Given the description of an element on the screen output the (x, y) to click on. 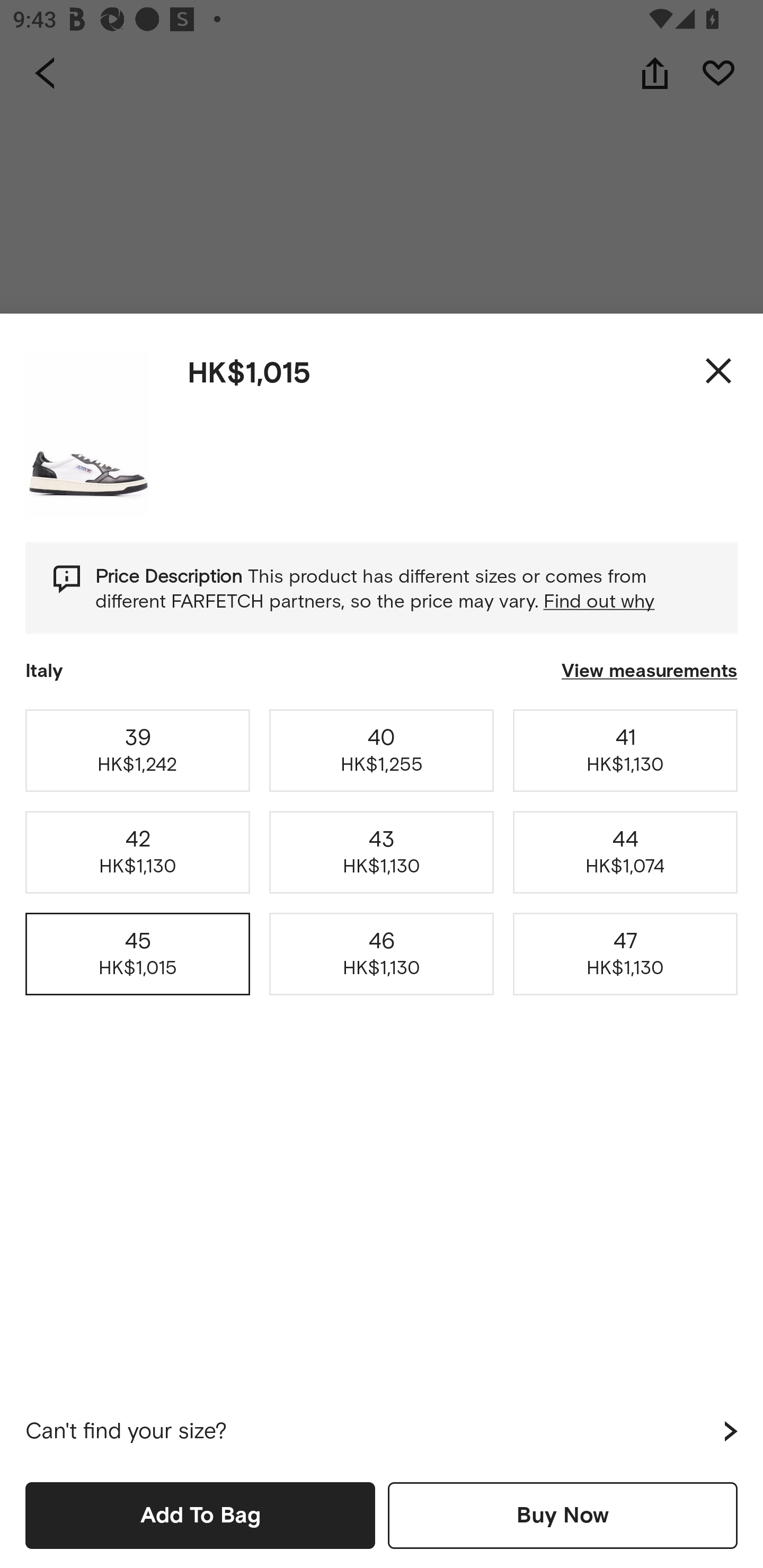
39 HK$1,242 (137, 749)
40 HK$1,255 (381, 749)
41 HK$1,130 (624, 749)
42 HK$1,130 (137, 851)
43 HK$1,130 (381, 851)
44 HK$1,074 (624, 851)
45 HK$1,015 (137, 953)
46 HK$1,130 (381, 953)
47 HK$1,130 (624, 953)
Can't find your size? (381, 1431)
Add To Bag (200, 1515)
Buy Now (562, 1515)
